Given the description of an element on the screen output the (x, y) to click on. 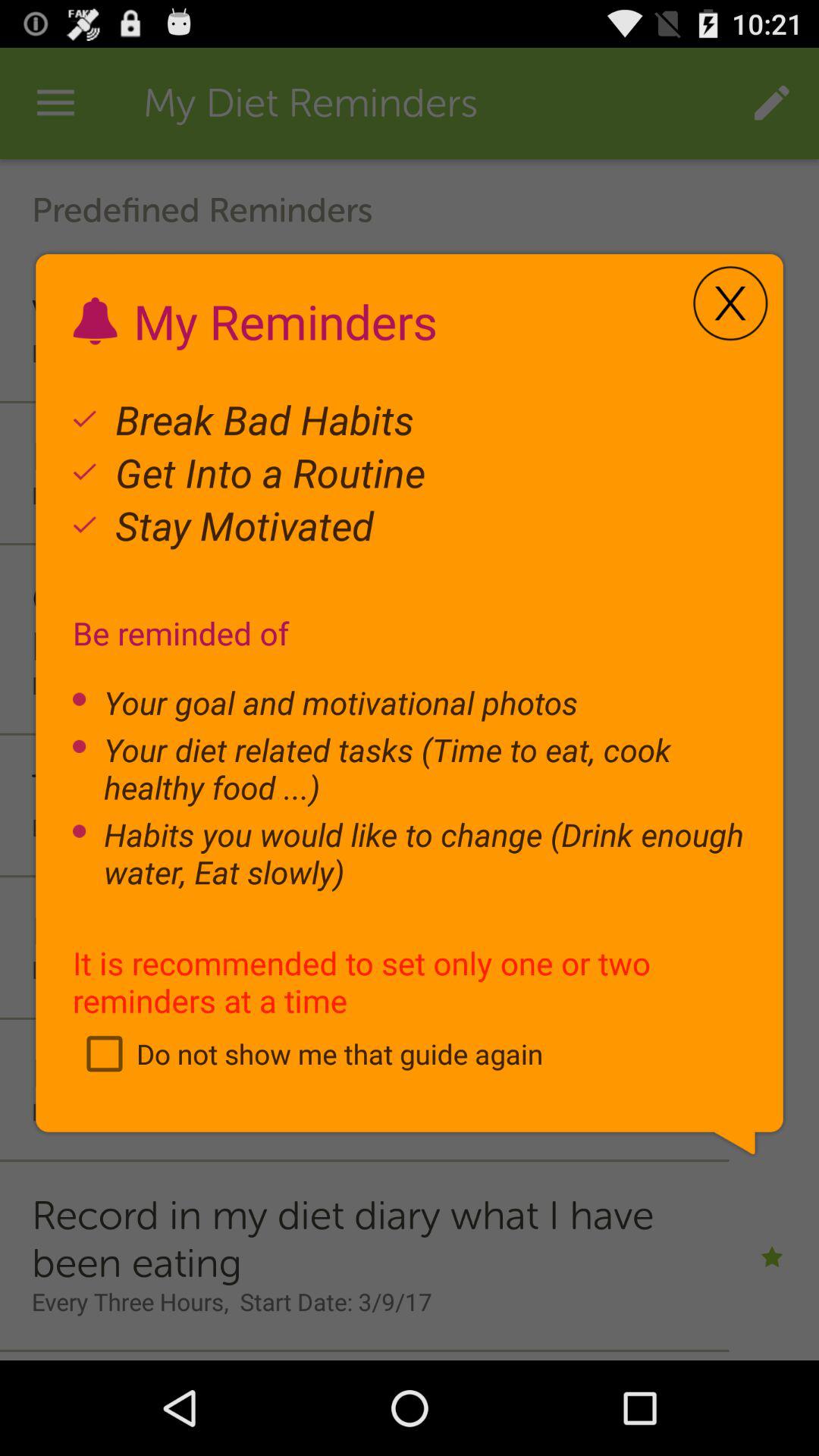
scroll to do not show icon (307, 1053)
